Given the description of an element on the screen output the (x, y) to click on. 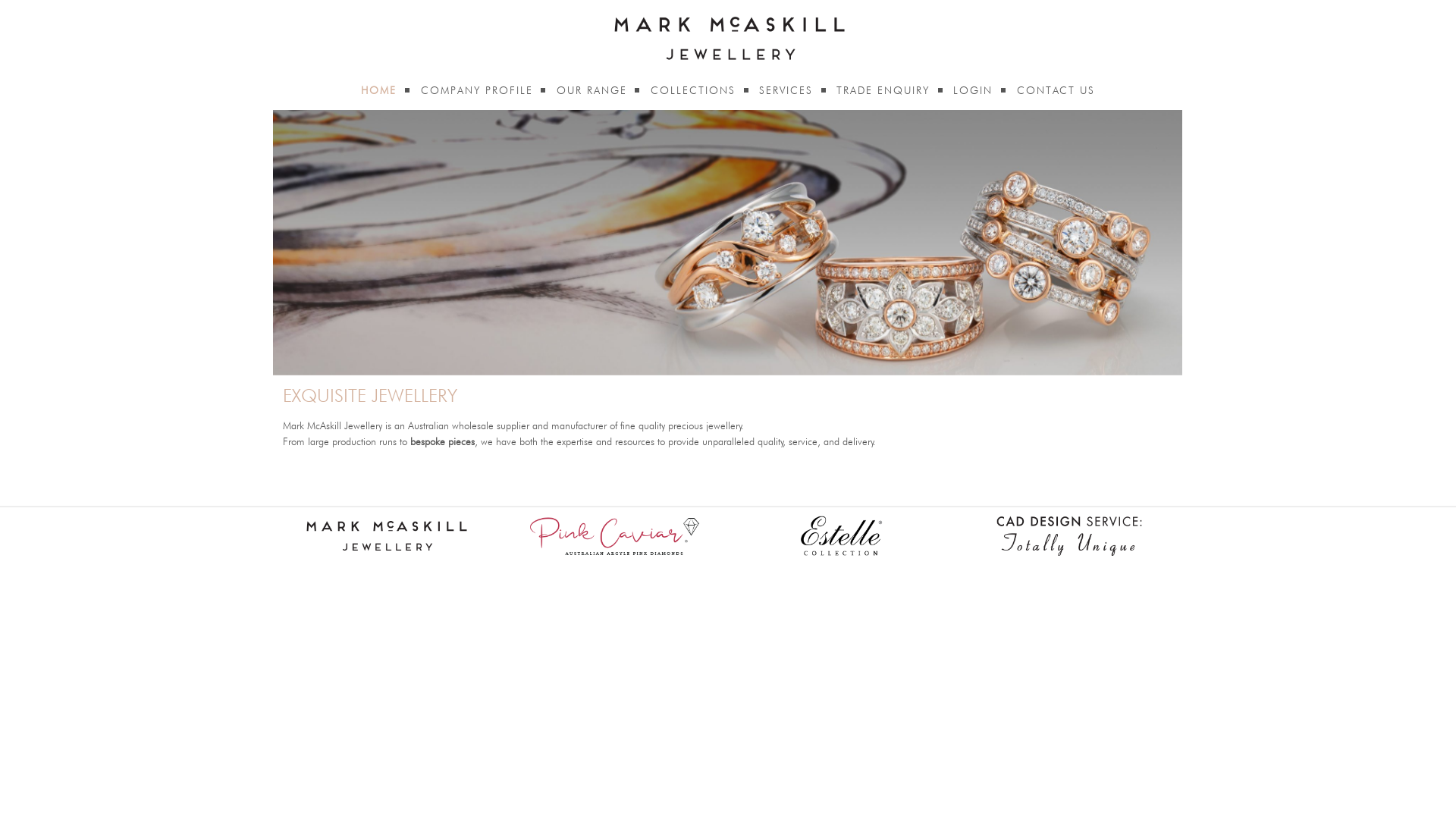
OUR RANGE Element type: text (591, 90)
Homepage Element type: hover (727, 37)
COLLECTIONS Element type: text (692, 90)
SERVICES Element type: text (785, 90)
HOME Element type: text (378, 90)
bespoke pieces Element type: text (442, 441)
LOGIN Element type: text (972, 90)
CONTACT US Element type: text (1055, 90)
COMPANY PROFILE Element type: text (476, 90)
TRADE ENQUIRY Element type: text (882, 90)
